Given the description of an element on the screen output the (x, y) to click on. 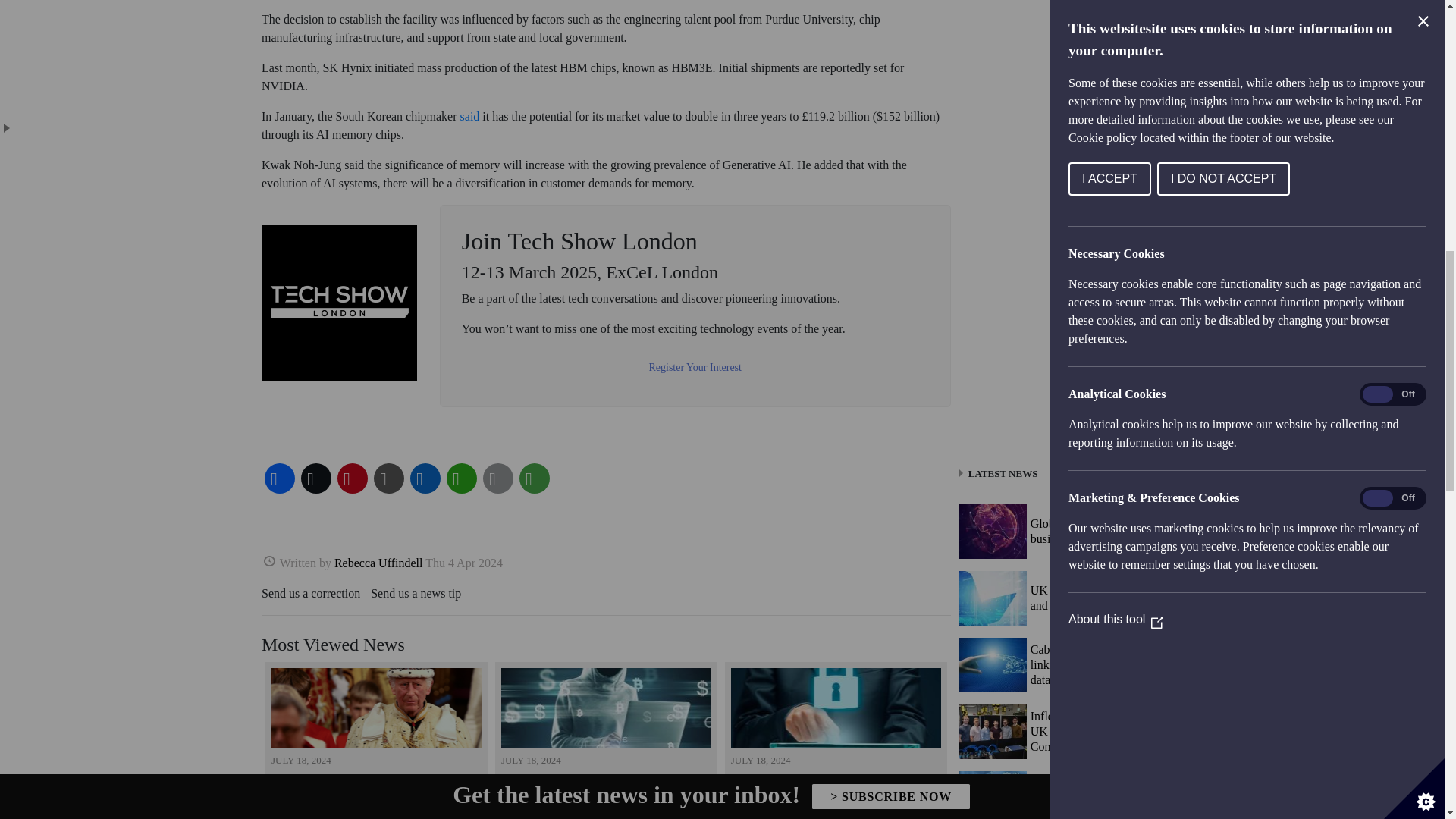
Posts by Rebecca Uffindell (378, 560)
LinkedIn (425, 478)
Facebook (280, 478)
More Options (534, 478)
TSL (339, 302)
Copy Link (389, 478)
Email This (498, 478)
WhatsApp (462, 478)
Pinterest (352, 478)
